Given the description of an element on the screen output the (x, y) to click on. 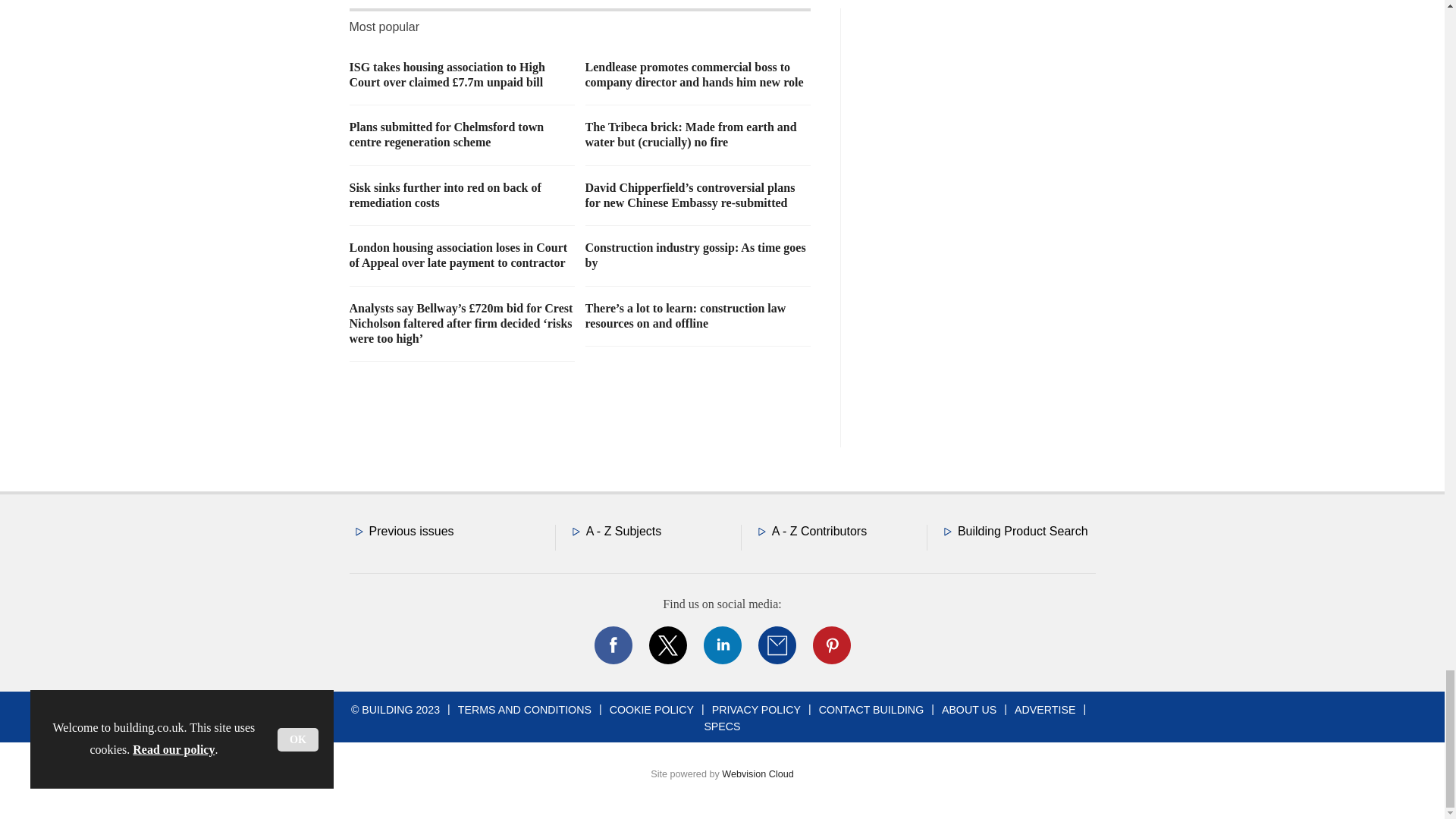
Connect with us on Facebook (611, 645)
Connect with us on Twitter (667, 645)
Connect with us on Linked in (721, 645)
Email us (776, 645)
Connect with us on Pinterest (830, 645)
